Given the description of an element on the screen output the (x, y) to click on. 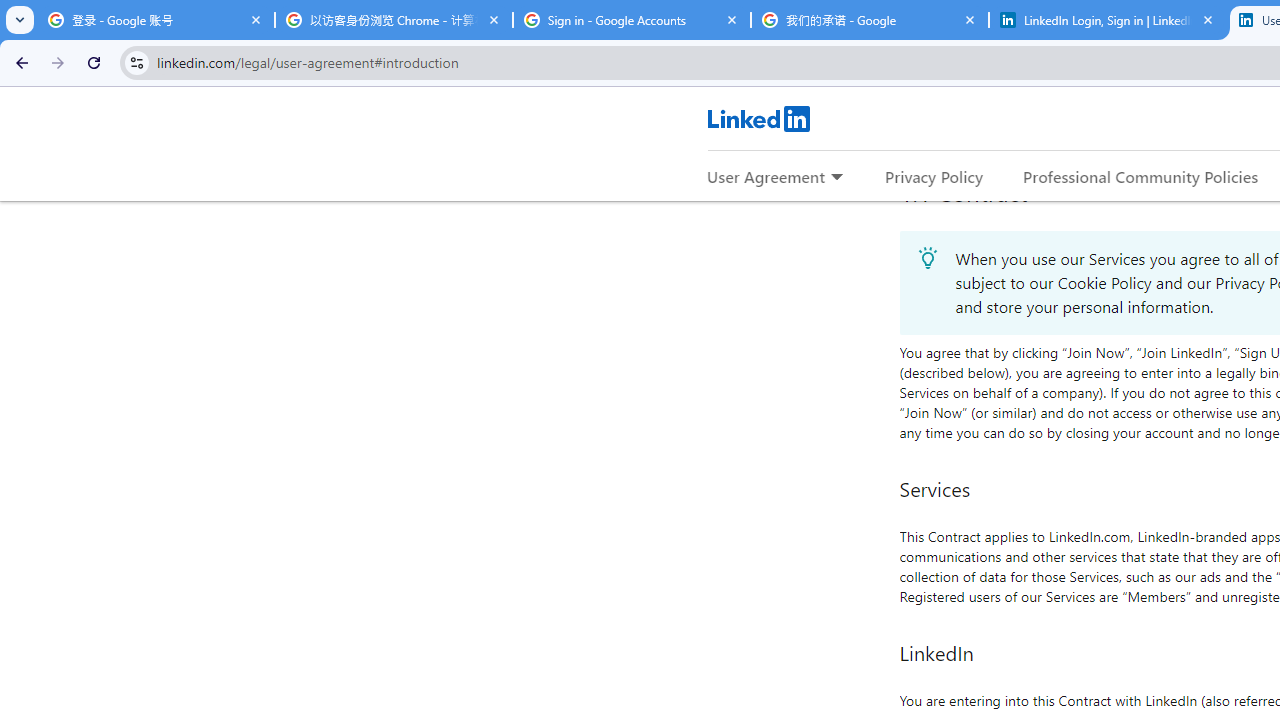
Professional Community Policies (1140, 176)
Sign in - Google Accounts (632, 20)
LinkedIn Logo (758, 118)
LinkedIn Login, Sign in | LinkedIn (1108, 20)
Expand to show more links for User Agreement (836, 178)
